Given the description of an element on the screen output the (x, y) to click on. 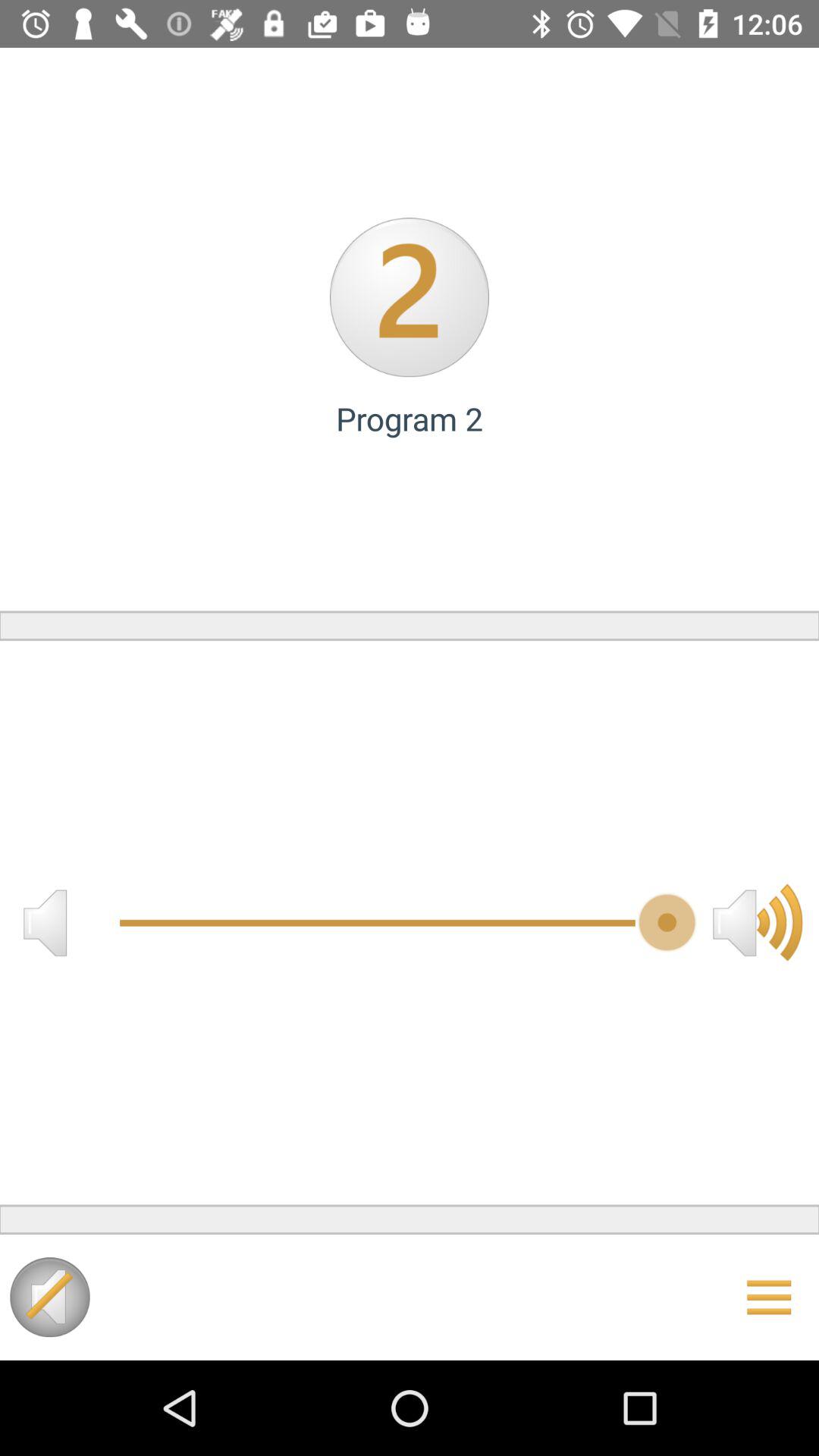
lower volume (44, 922)
